Given the description of an element on the screen output the (x, y) to click on. 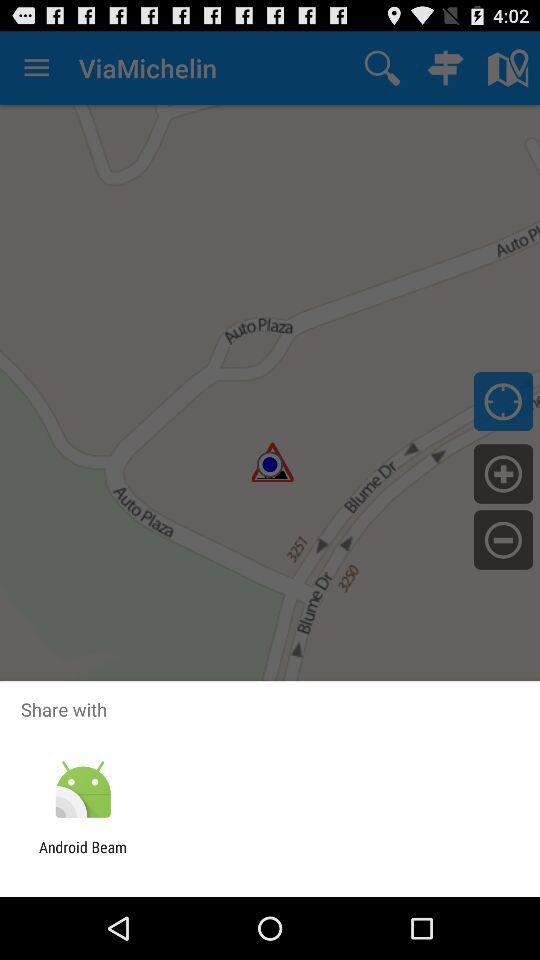
jump until android beam (83, 856)
